Given the description of an element on the screen output the (x, y) to click on. 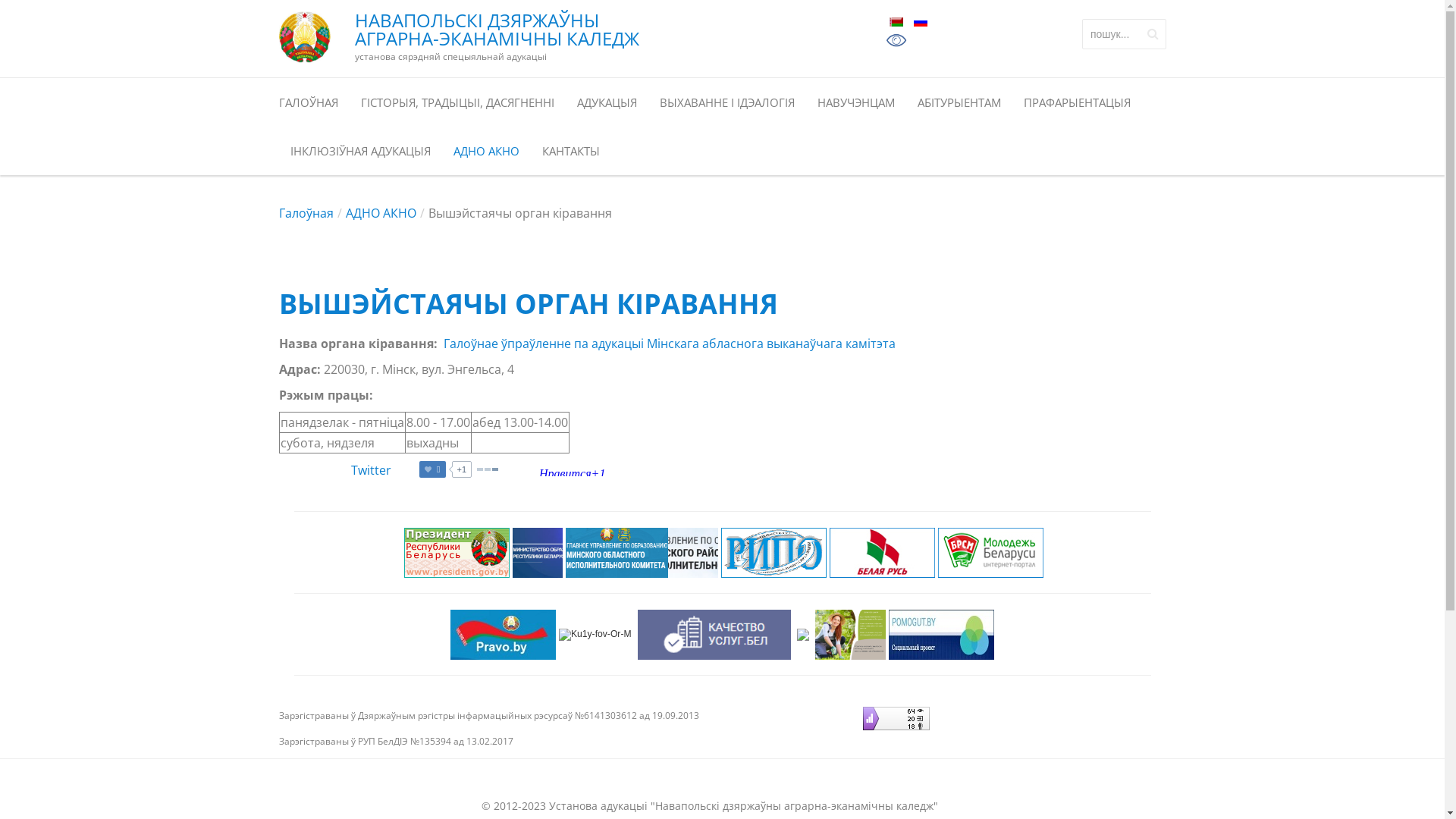
Twitter Element type: text (370, 469)
